Given the description of an element on the screen output the (x, y) to click on. 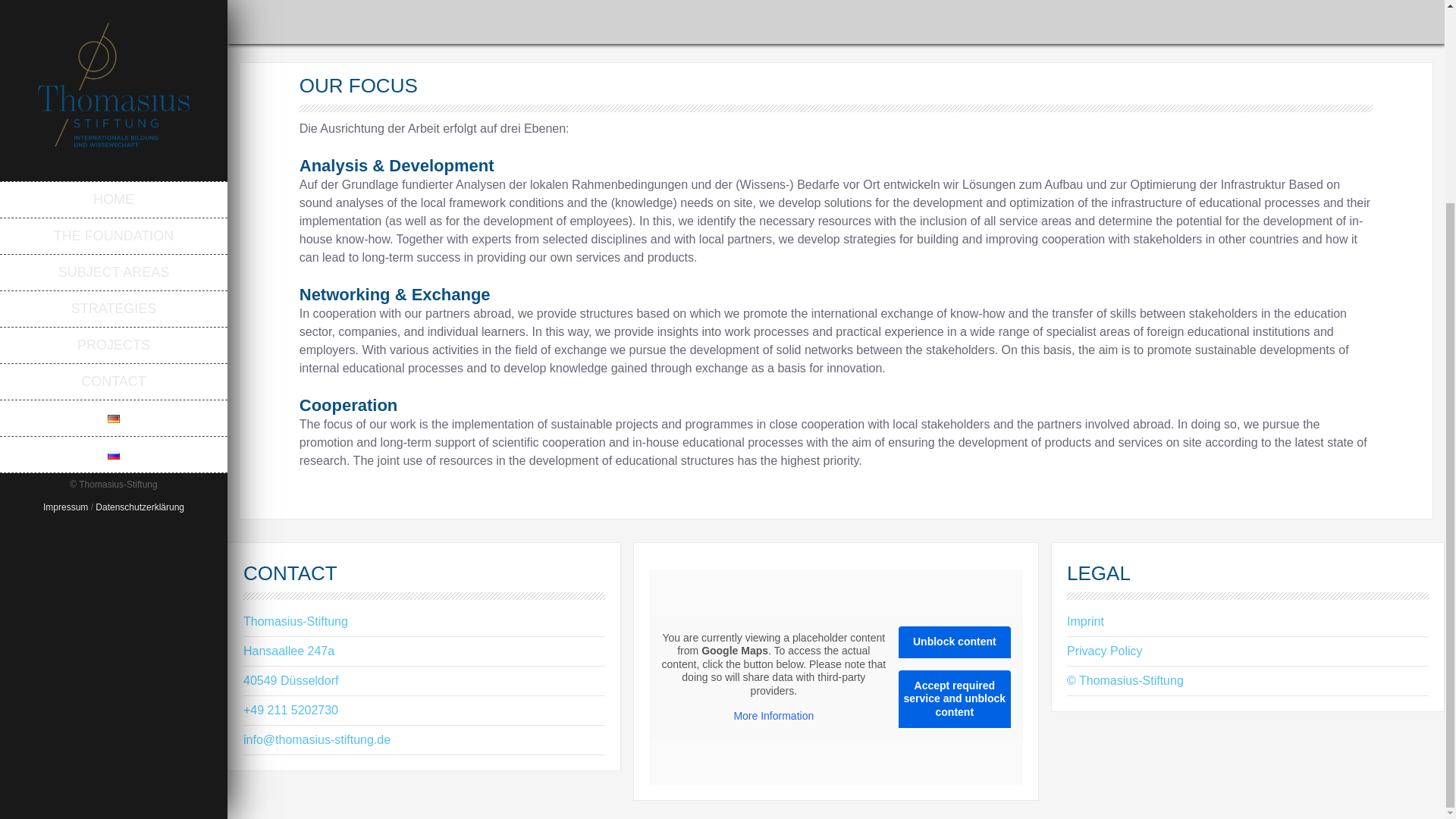
PROJECTS (113, 85)
STRATEGIES (113, 49)
SUBJECT AREAS (113, 15)
CONTACT (113, 122)
Impressum (65, 247)
